Given the description of an element on the screen output the (x, y) to click on. 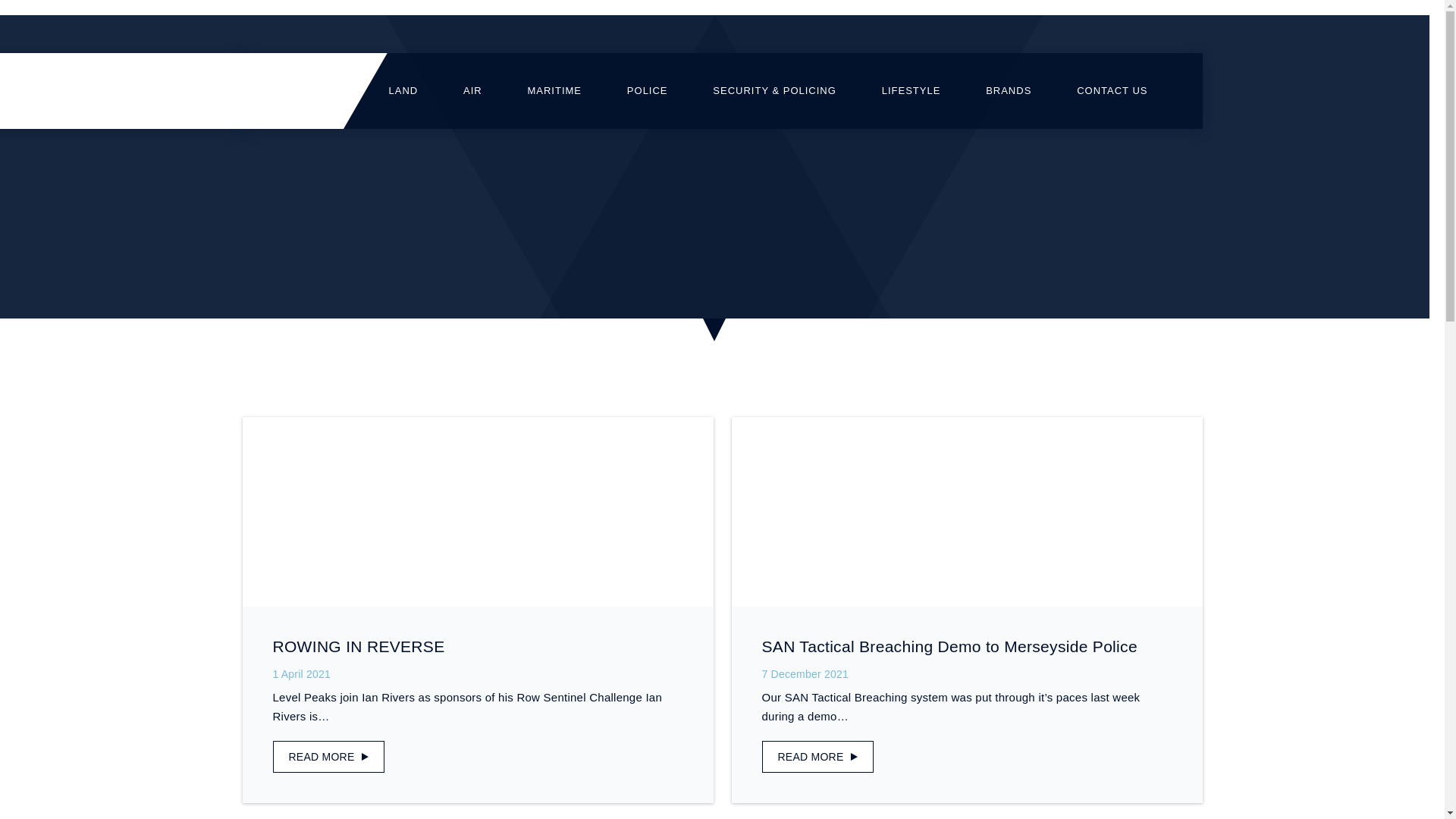
READ MORE (817, 757)
READ MORE (327, 757)
CONTACT US (1112, 90)
